Given the description of an element on the screen output the (x, y) to click on. 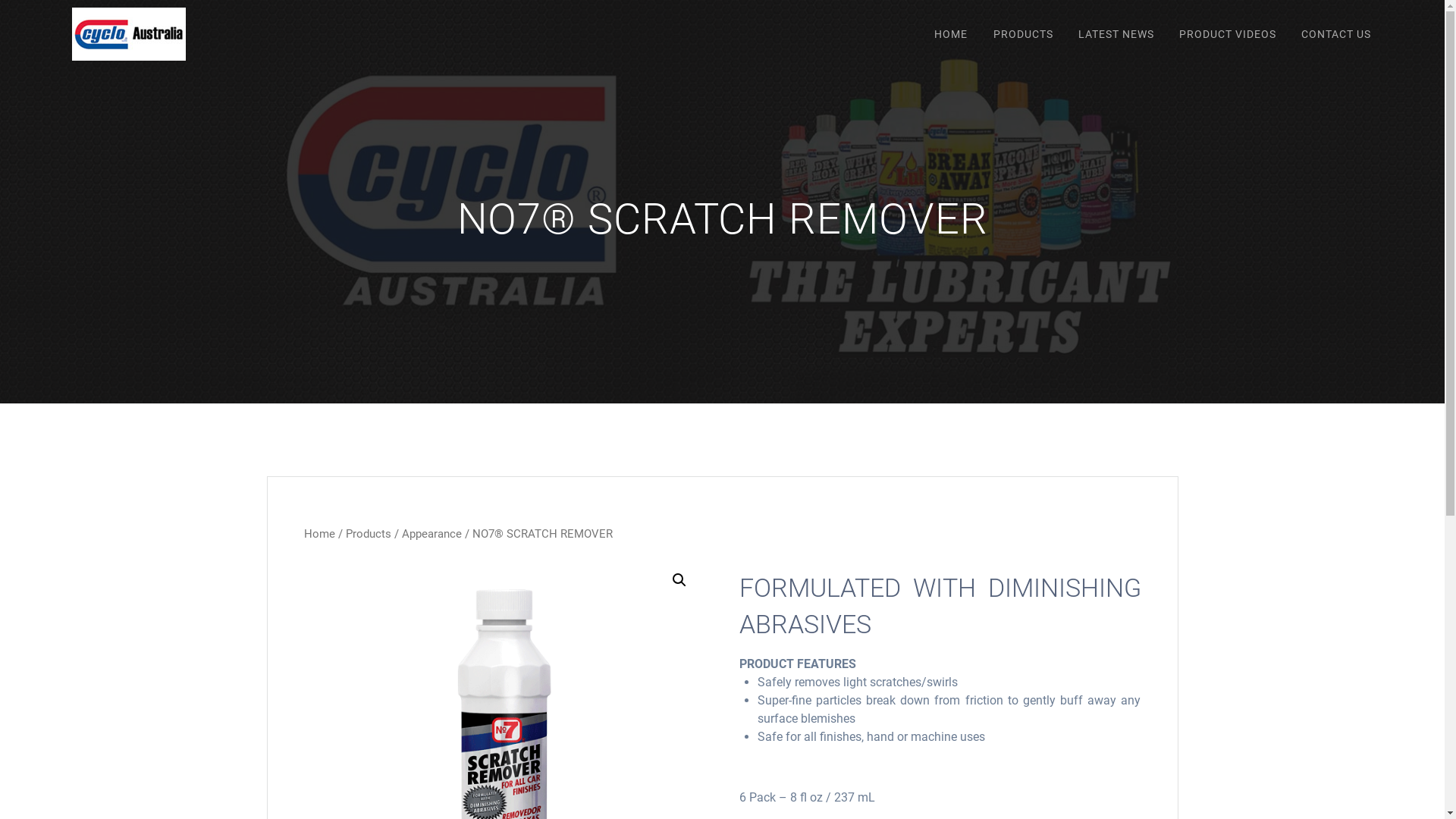
CONTACT US Element type: text (1336, 33)
Home Element type: text (318, 533)
HOME Element type: text (951, 33)
Appearance Element type: text (431, 533)
LATEST NEWS Element type: text (1115, 33)
PRODUCT VIDEOS Element type: text (1227, 33)
PRODUCTS Element type: text (1022, 33)
Products Element type: text (368, 533)
